Given the description of an element on the screen output the (x, y) to click on. 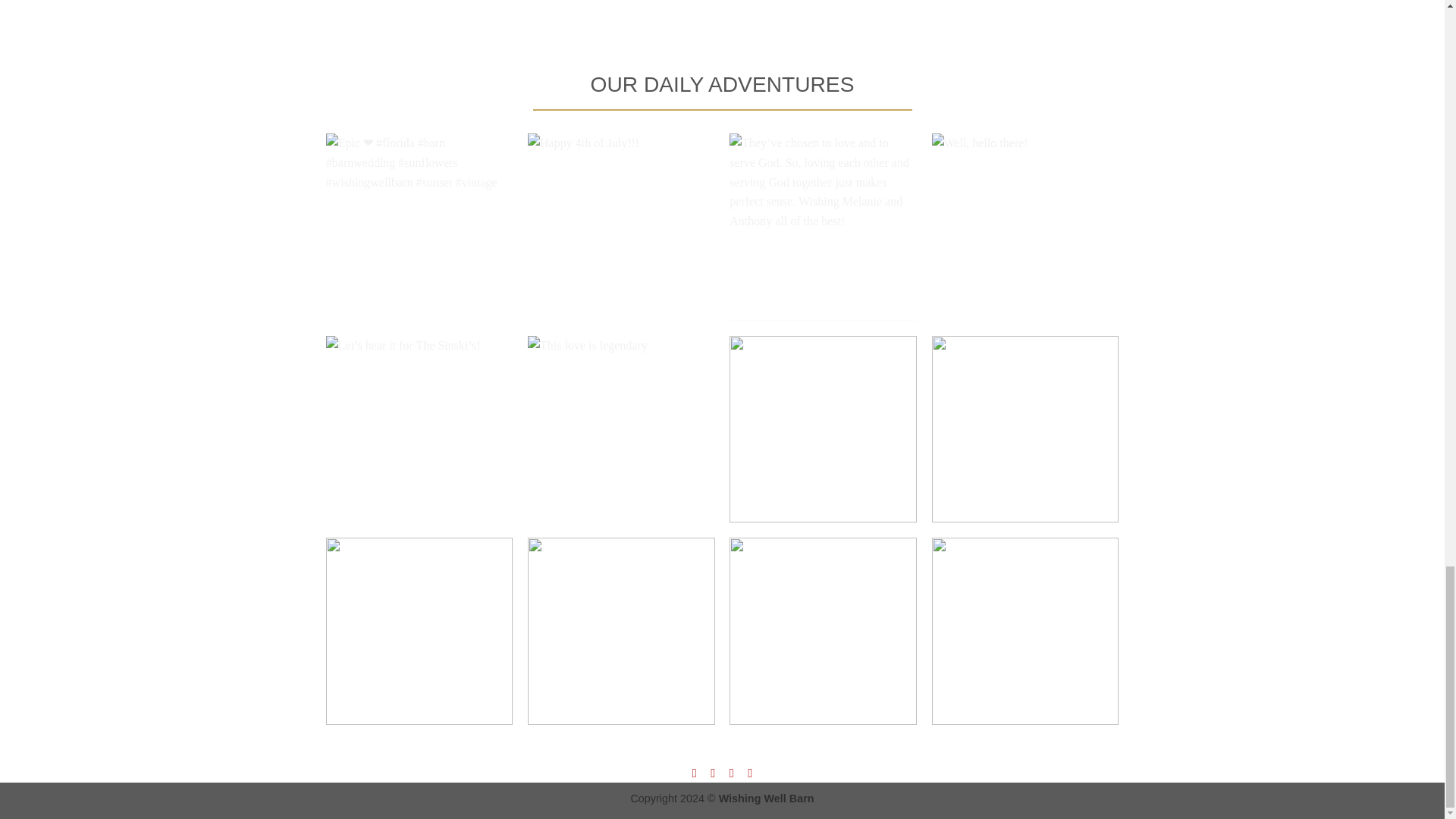
Follow on Instagram (712, 772)
Send us an email (749, 772)
Follow on Twitter (731, 772)
Follow on Facebook (694, 772)
